Given the description of an element on the screen output the (x, y) to click on. 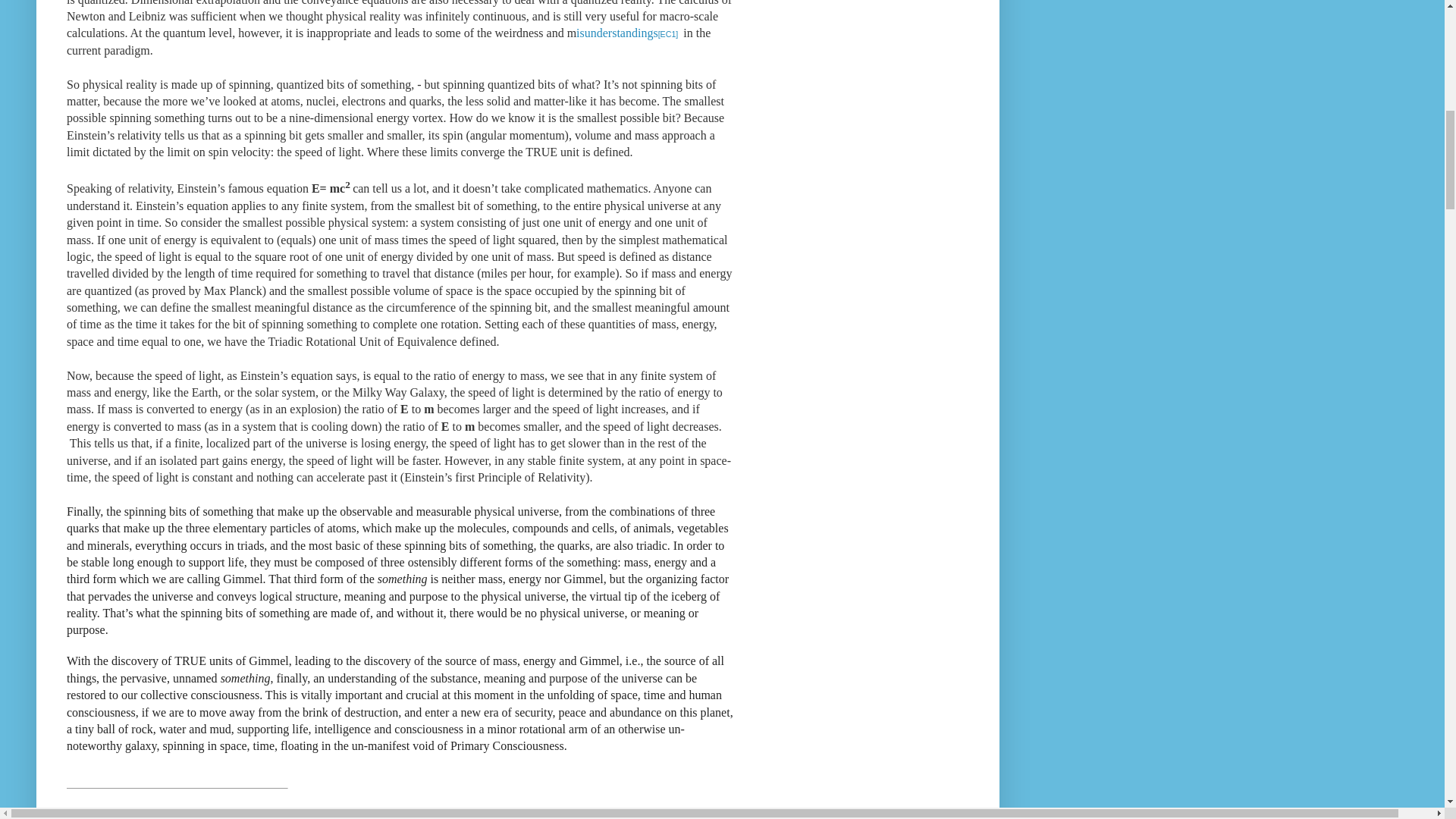
isunderstandings (617, 32)
